Given the description of an element on the screen output the (x, y) to click on. 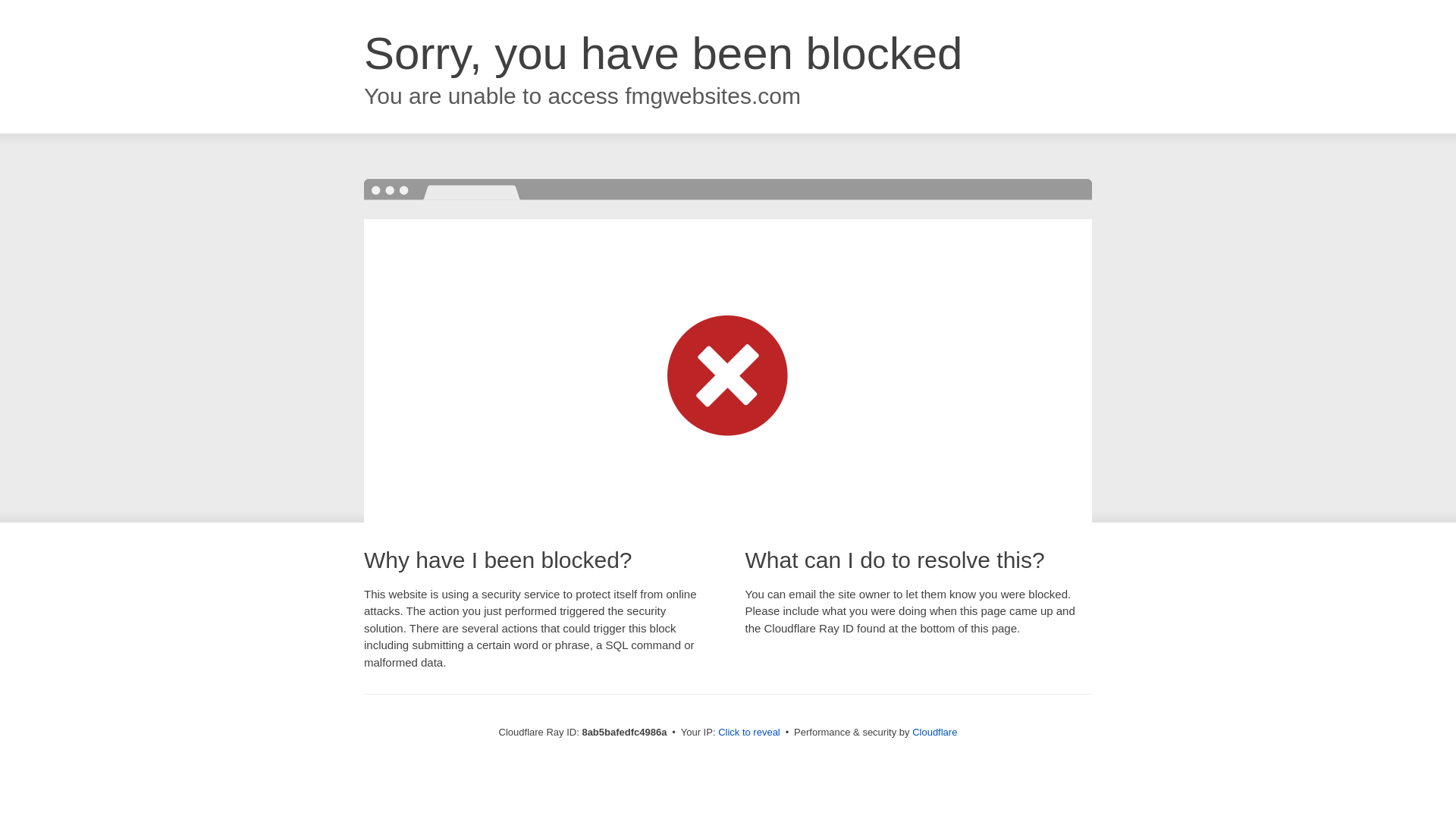
Cloudflare (934, 731)
Click to reveal (748, 732)
